Given the description of an element on the screen output the (x, y) to click on. 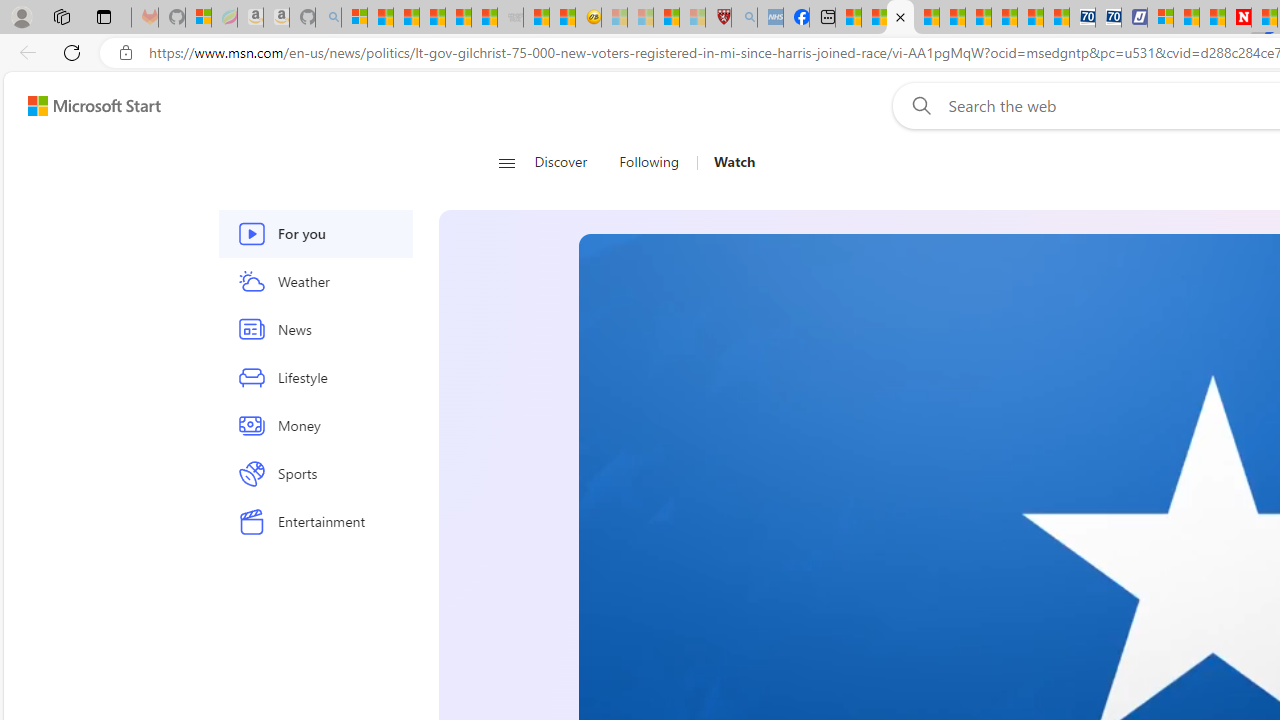
Cheap Hotels - Save70.com (1108, 17)
Combat Siege - Sleeping (510, 17)
